Given the description of an element on the screen output the (x, y) to click on. 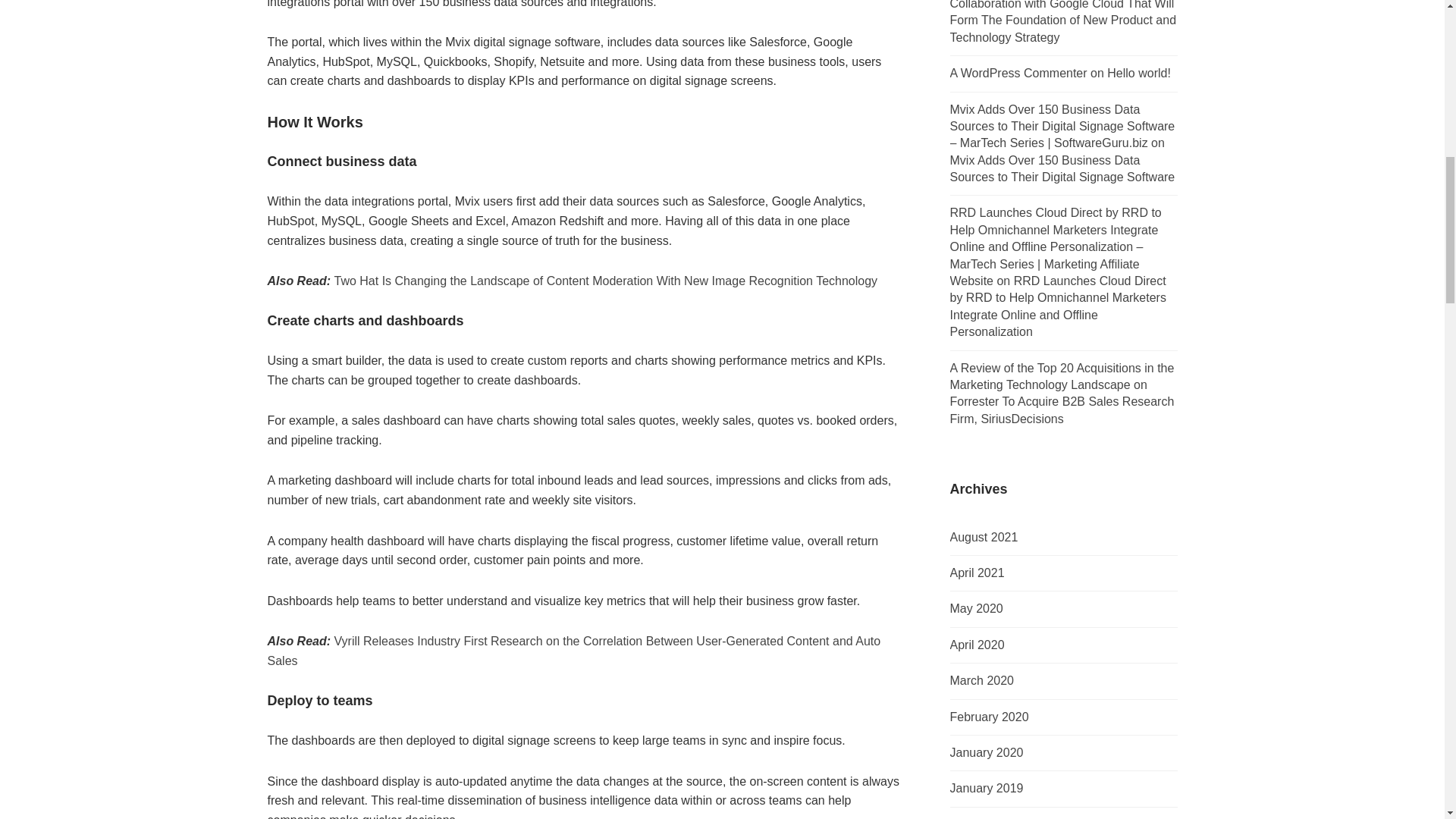
A WordPress Commenter (1017, 72)
Hello world! (1138, 72)
